Given the description of an element on the screen output the (x, y) to click on. 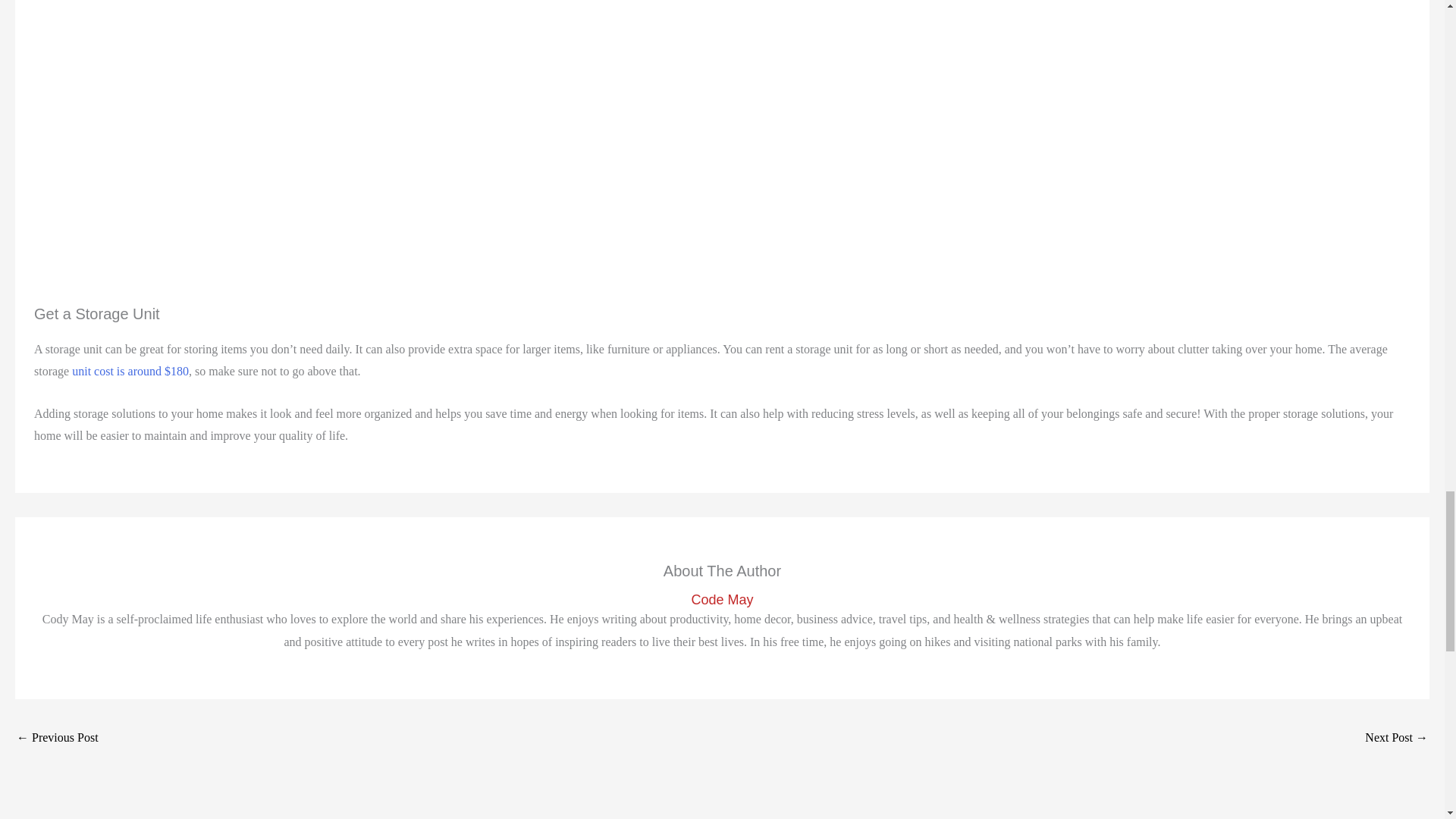
Code May (721, 600)
Improving Your Posture for Improved Health and Comfort (1396, 738)
Selling Your Used Clothes Online: A Guide (57, 738)
